Given the description of an element on the screen output the (x, y) to click on. 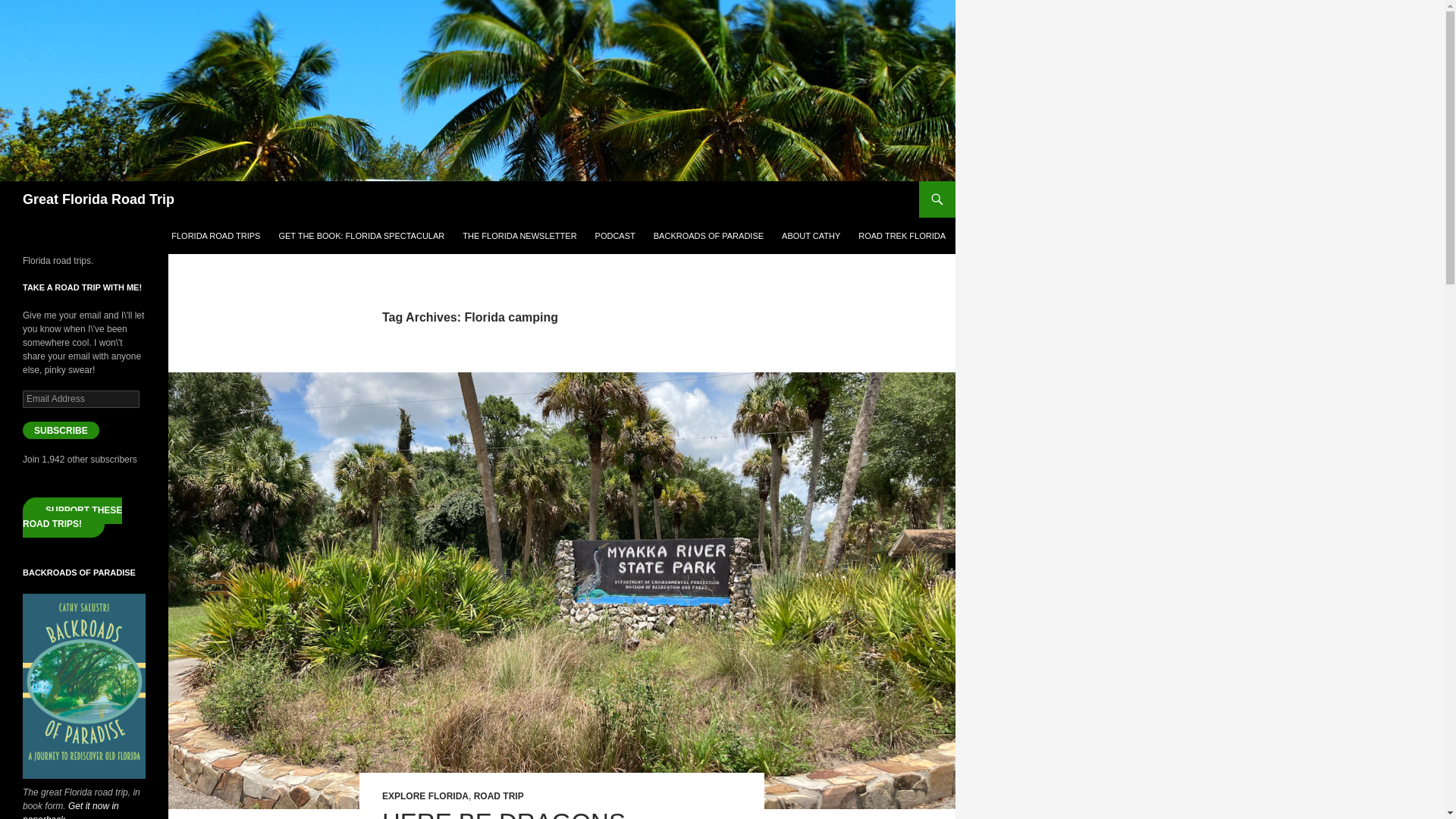
About Cathy Salustri (810, 235)
Great Florida Road Trip (98, 198)
Florida Road Trips (215, 235)
ABOUT CATHY (810, 235)
Backroads of Paradise (709, 235)
GET THE BOOK: FLORIDA SPECTACULAR (360, 235)
ROAD TREK FLORIDA (901, 235)
THE FLORIDA NEWSLETTER (518, 235)
BACKROADS OF PARADISE (709, 235)
The Florida Spectacular (518, 235)
EXPLORE FLORIDA (424, 796)
Order Florida Spectacular (360, 235)
ROAD TRIP (499, 796)
